Given the description of an element on the screen output the (x, y) to click on. 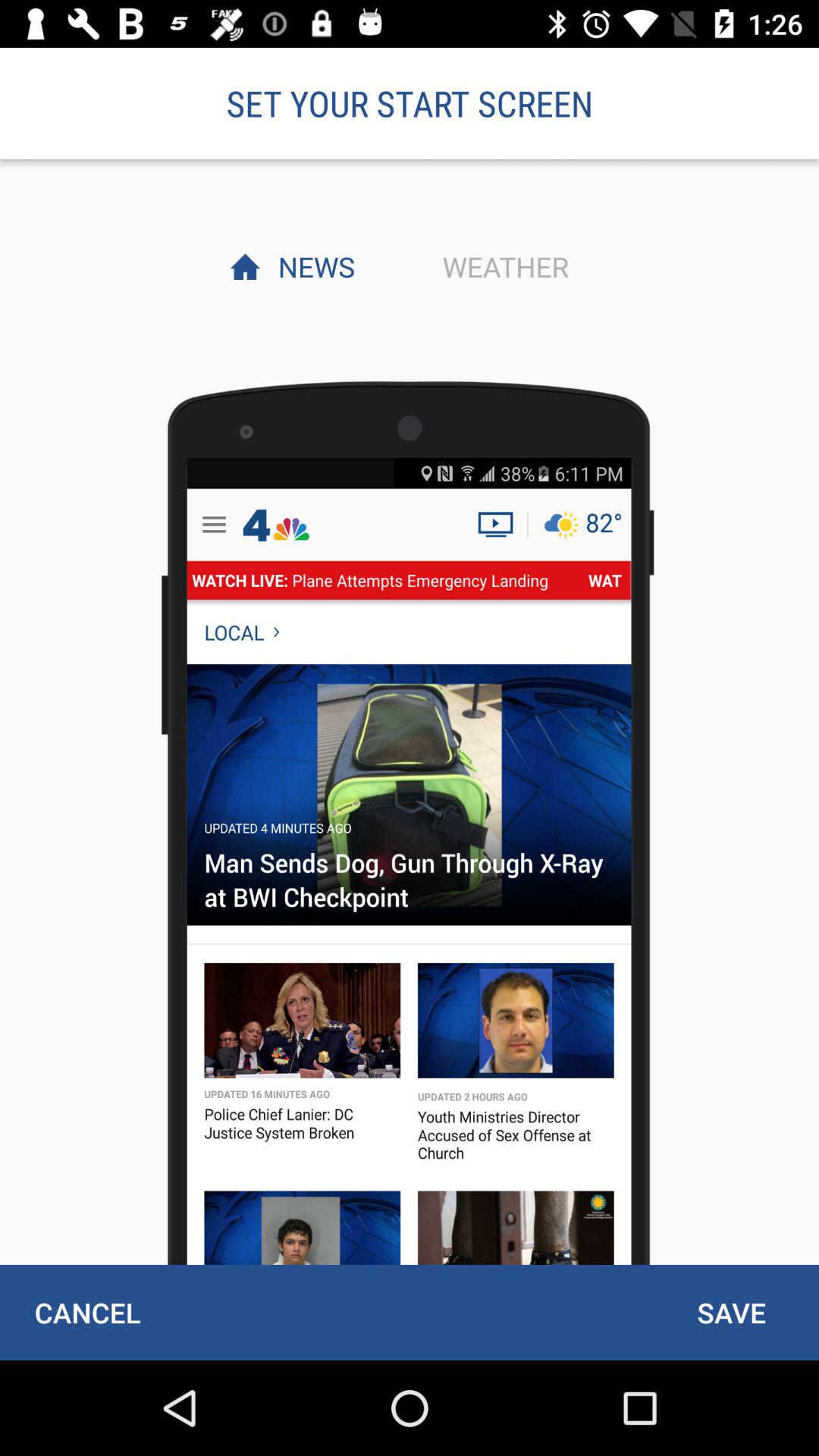
turn on weather icon (501, 266)
